Given the description of an element on the screen output the (x, y) to click on. 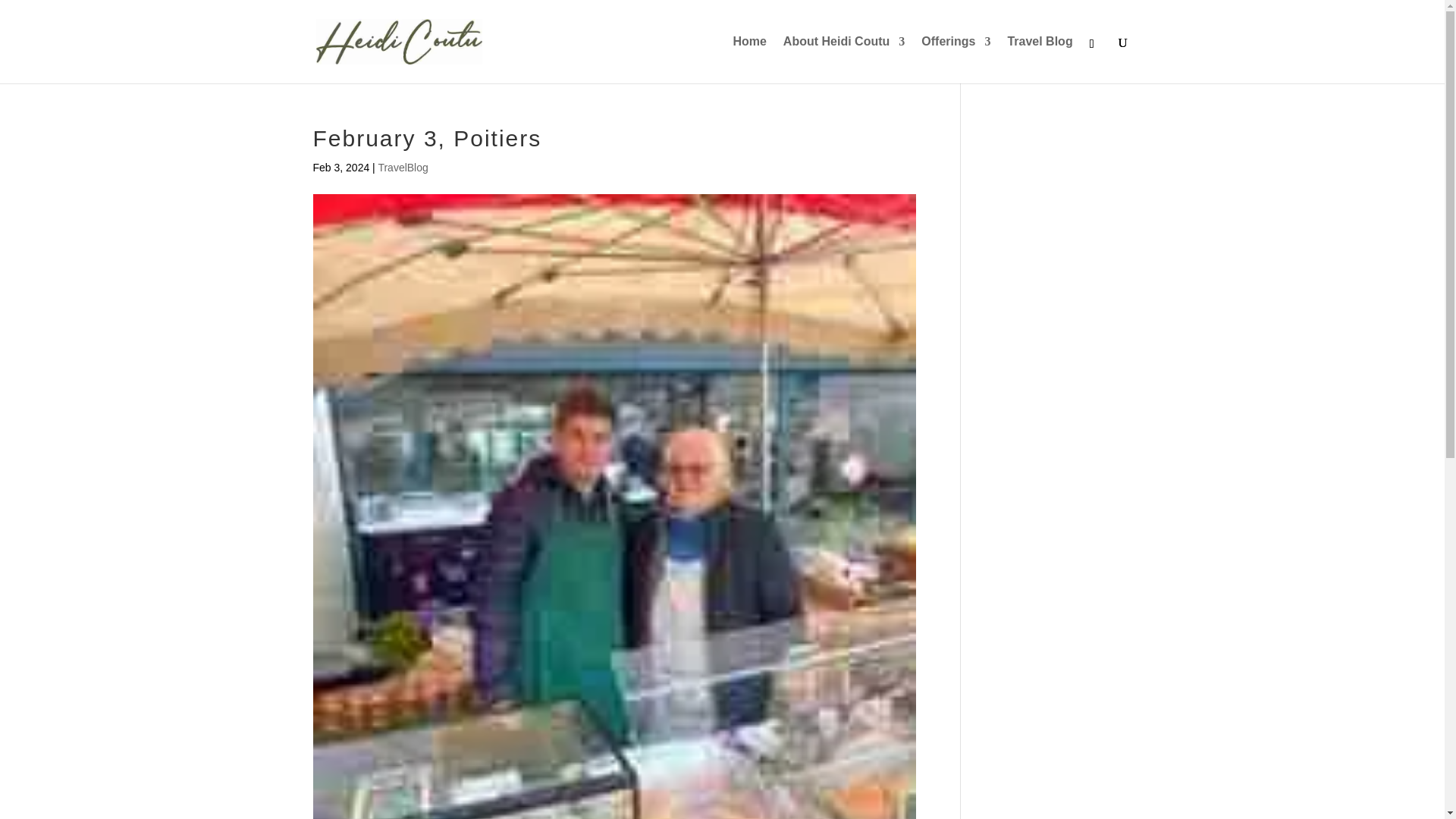
Offerings (955, 59)
Travel Blog (1039, 59)
About Heidi Coutu (843, 59)
TravelBlog (402, 167)
